Given the description of an element on the screen output the (x, y) to click on. 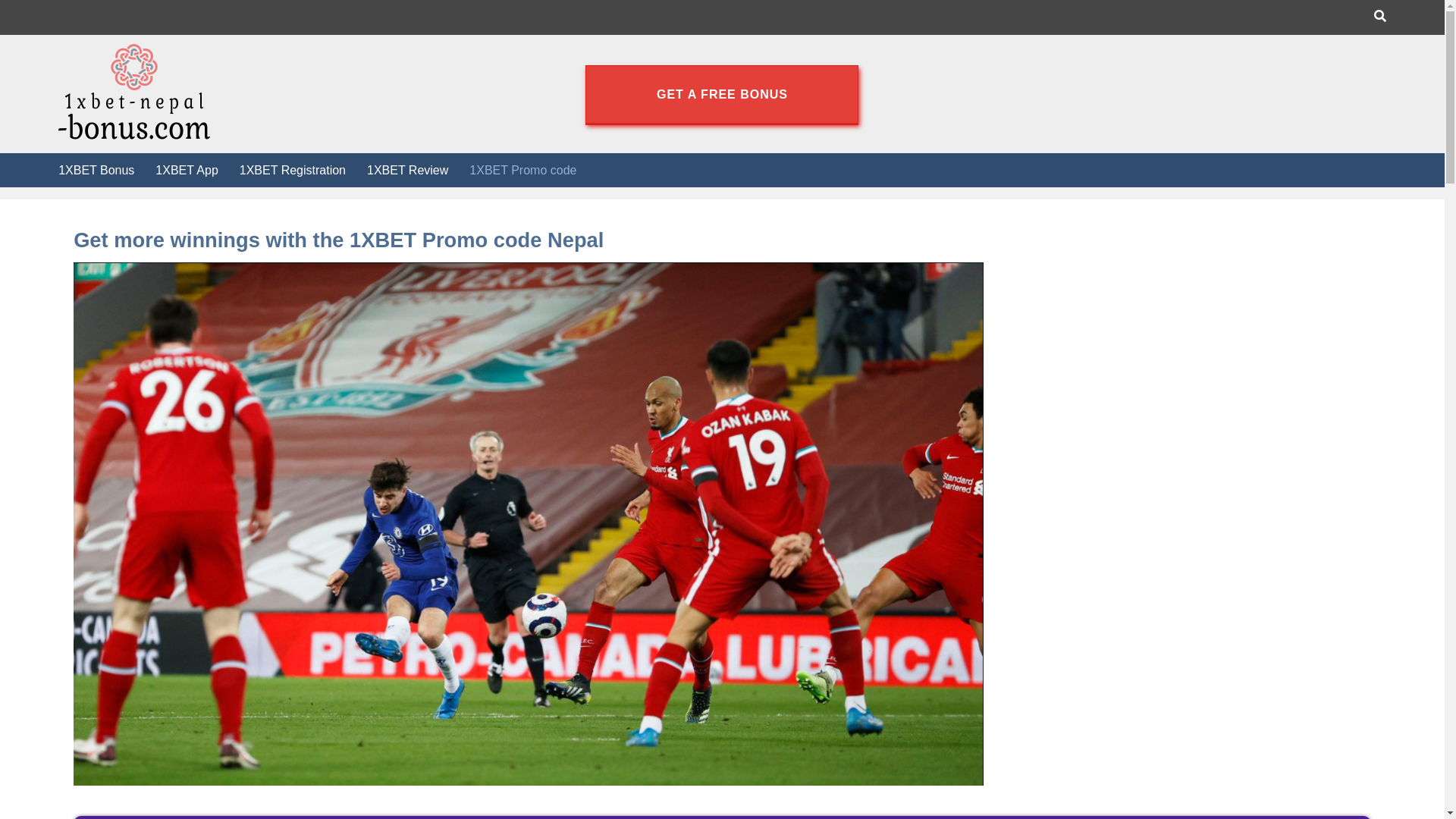
GET A FREE BONUS Element type: text (721, 94)
Search Element type: text (952, 9)
1XBET Review Element type: text (407, 170)
1XBET Promo code Element type: text (522, 170)
Skip to content Element type: text (0, 0)
1XBET Registration Element type: text (292, 170)
1XBET App Element type: text (186, 170)
1XBET Bonus Element type: text (95, 170)
